Given the description of an element on the screen output the (x, y) to click on. 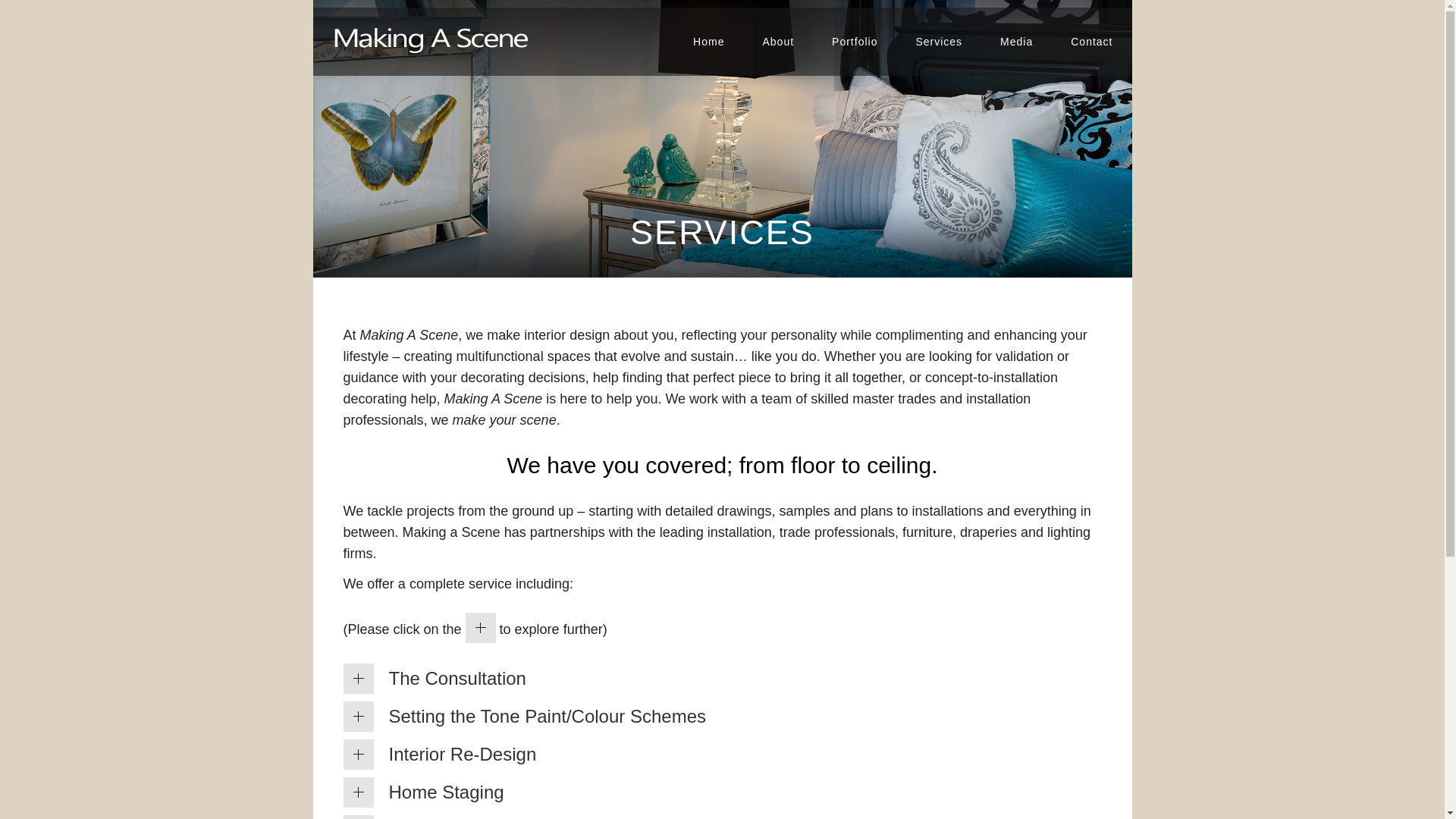
Home (708, 41)
Portfolio (854, 41)
Media (1016, 41)
Services (938, 41)
About (777, 41)
Contact (1091, 41)
